Given the description of an element on the screen output the (x, y) to click on. 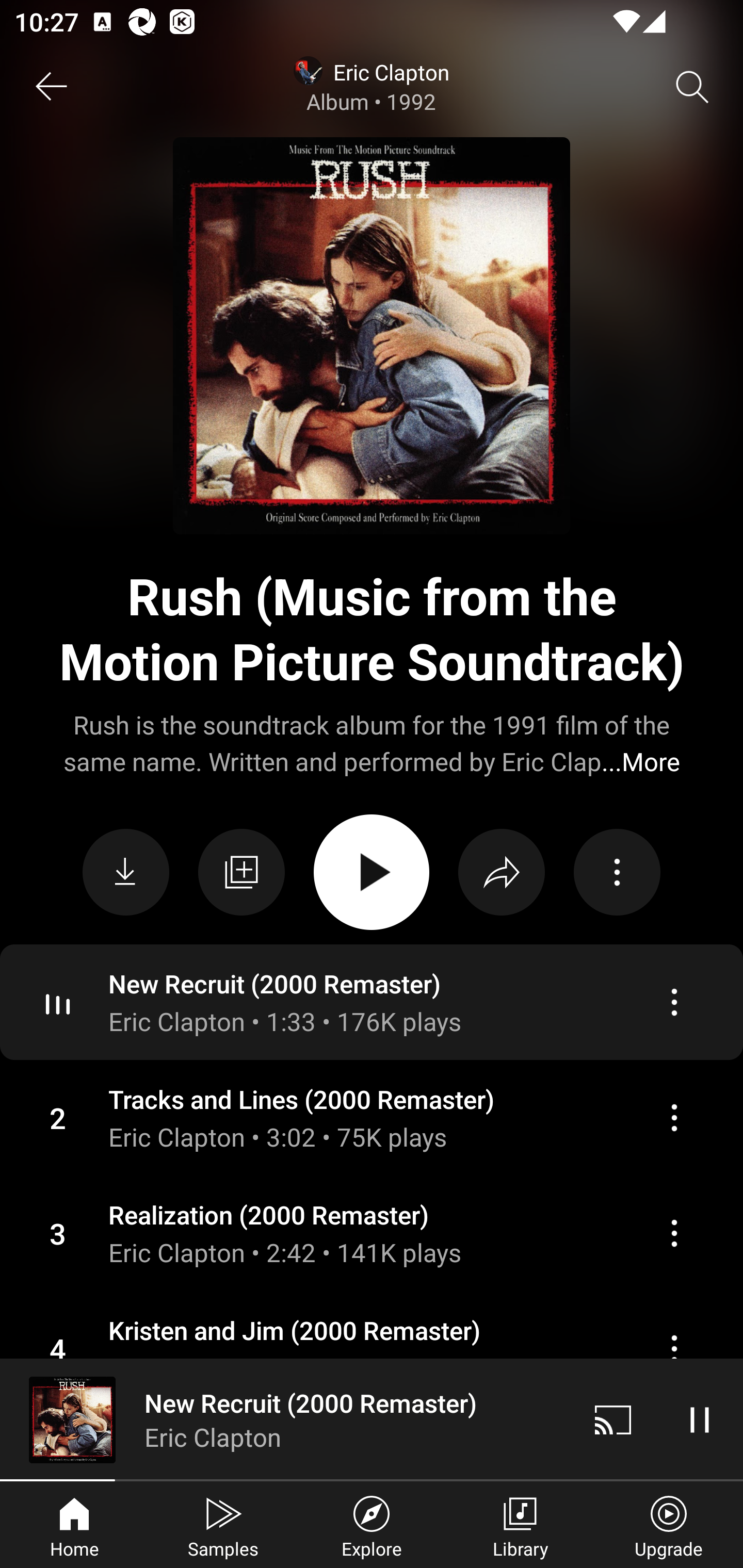
Back (50, 86)
Search (692, 86)
PLAY ALL (371, 871)
Download (125, 871)
Save to library (241, 871)
Share (501, 871)
Action menu (616, 871)
Action menu (371, 1001)
Action menu (673, 1002)
Action menu (371, 1117)
Action menu (673, 1117)
Action menu (371, 1233)
Action menu (673, 1233)
Action menu (371, 1348)
Action menu (673, 1349)
New Recruit (2000 Remaster) Eric Clapton (284, 1419)
Cast. Disconnected (612, 1419)
Pause video (699, 1419)
Home (74, 1524)
Samples (222, 1524)
Explore (371, 1524)
Library (519, 1524)
Upgrade (668, 1524)
